Given the description of an element on the screen output the (x, y) to click on. 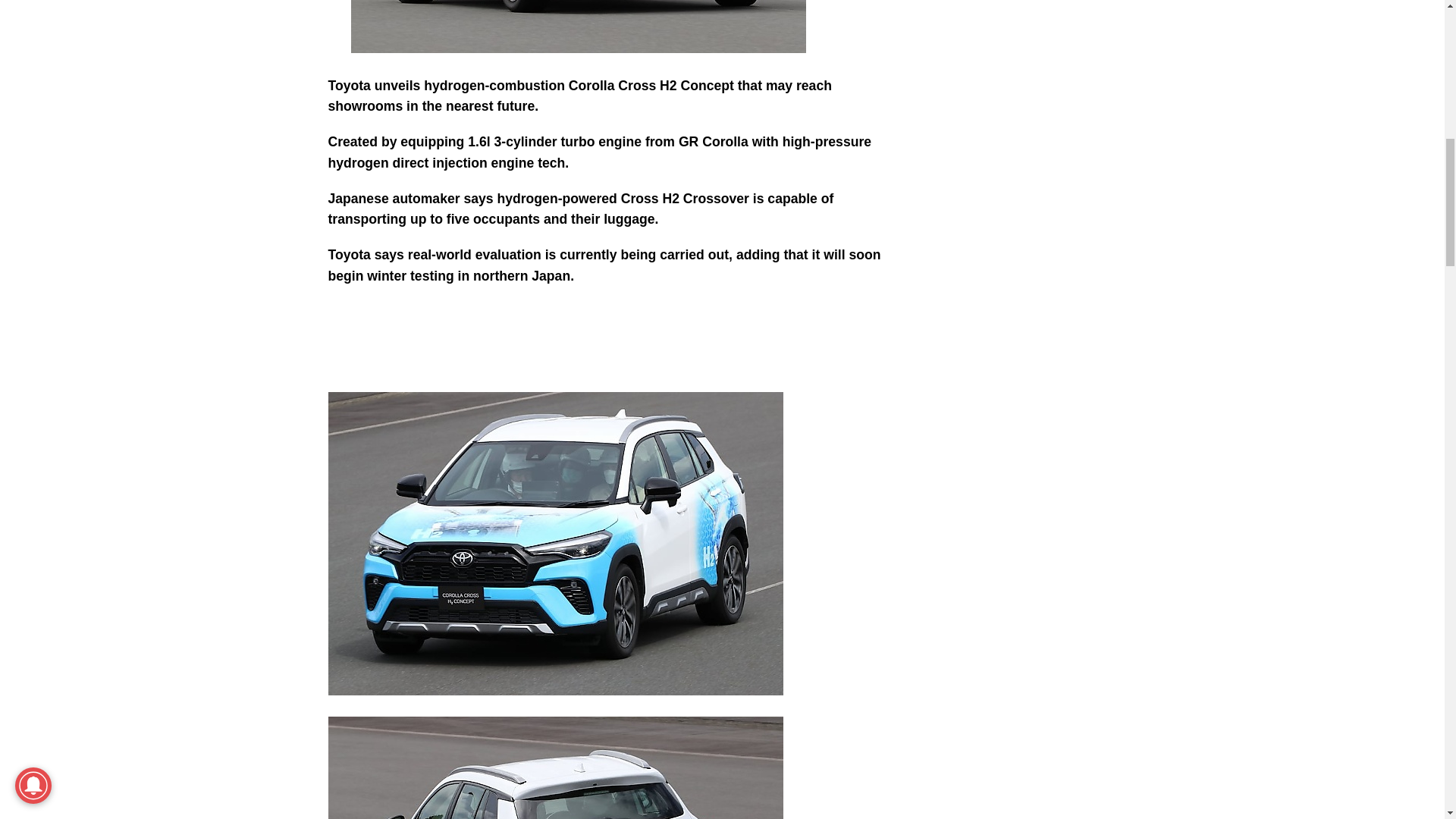
Advertisement (1047, 113)
